Given the description of an element on the screen output the (x, y) to click on. 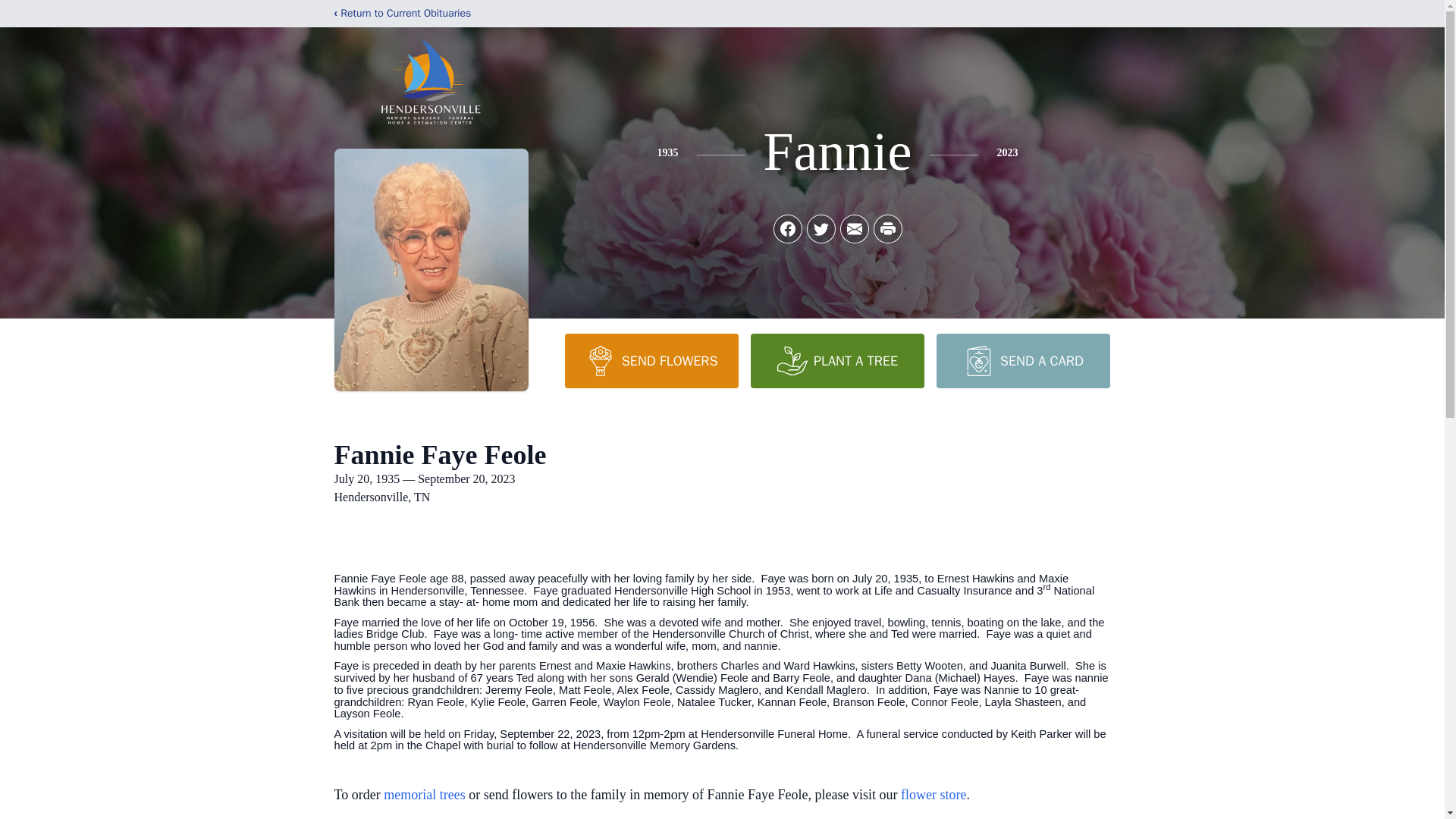
SEND A CARD (1022, 360)
flower store (933, 794)
PLANT A TREE (837, 360)
SEND FLOWERS (651, 360)
memorial trees (424, 794)
